Given the description of an element on the screen output the (x, y) to click on. 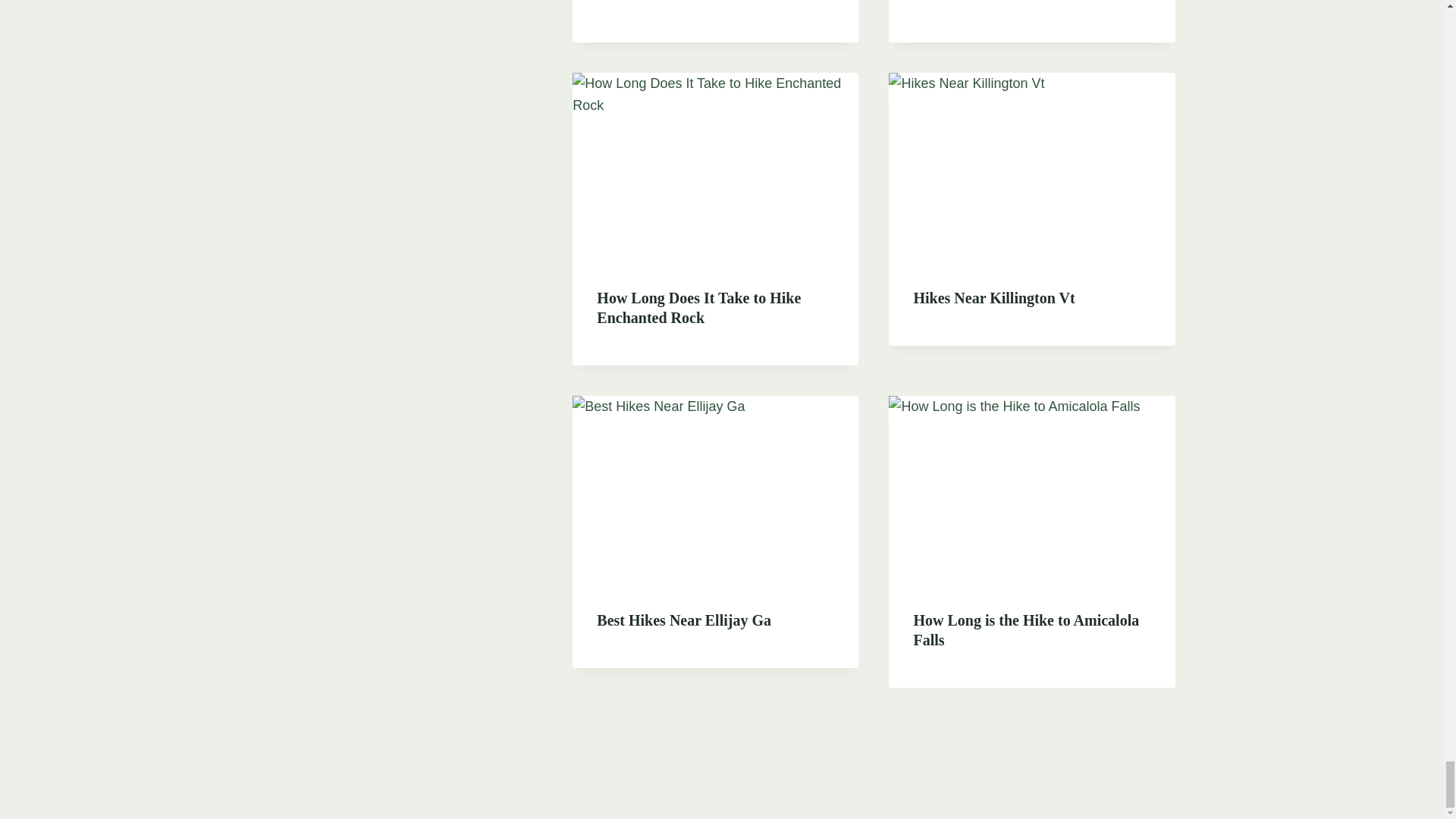
Best Hikes Near Ellijay Ga 8 (715, 490)
Hikes Near Killington Vt 7 (1031, 167)
How Long Does It Take to Hike Enchanted Rock 6 (715, 167)
How Long is the Hike to Amicalola Falls 9 (1031, 490)
50 Mile Hikes in Utah (667, 1)
Best Hikes in Mt Rainier (993, 1)
